Given the description of an element on the screen output the (x, y) to click on. 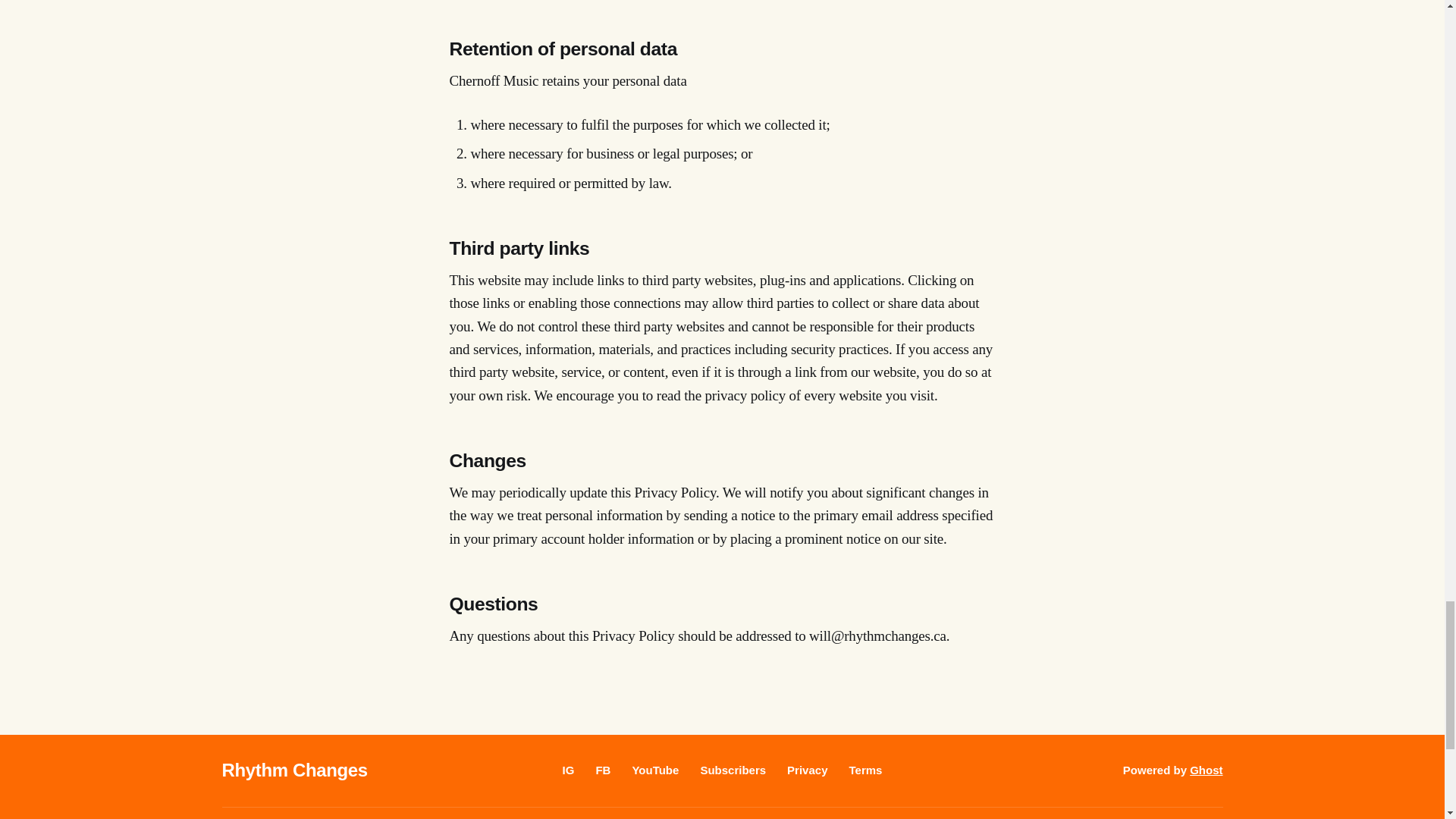
Terms (865, 769)
Subscribers (732, 769)
Privacy (807, 769)
FB (602, 769)
IG (568, 769)
YouTube (654, 769)
Ghost (1206, 769)
